Given the description of an element on the screen output the (x, y) to click on. 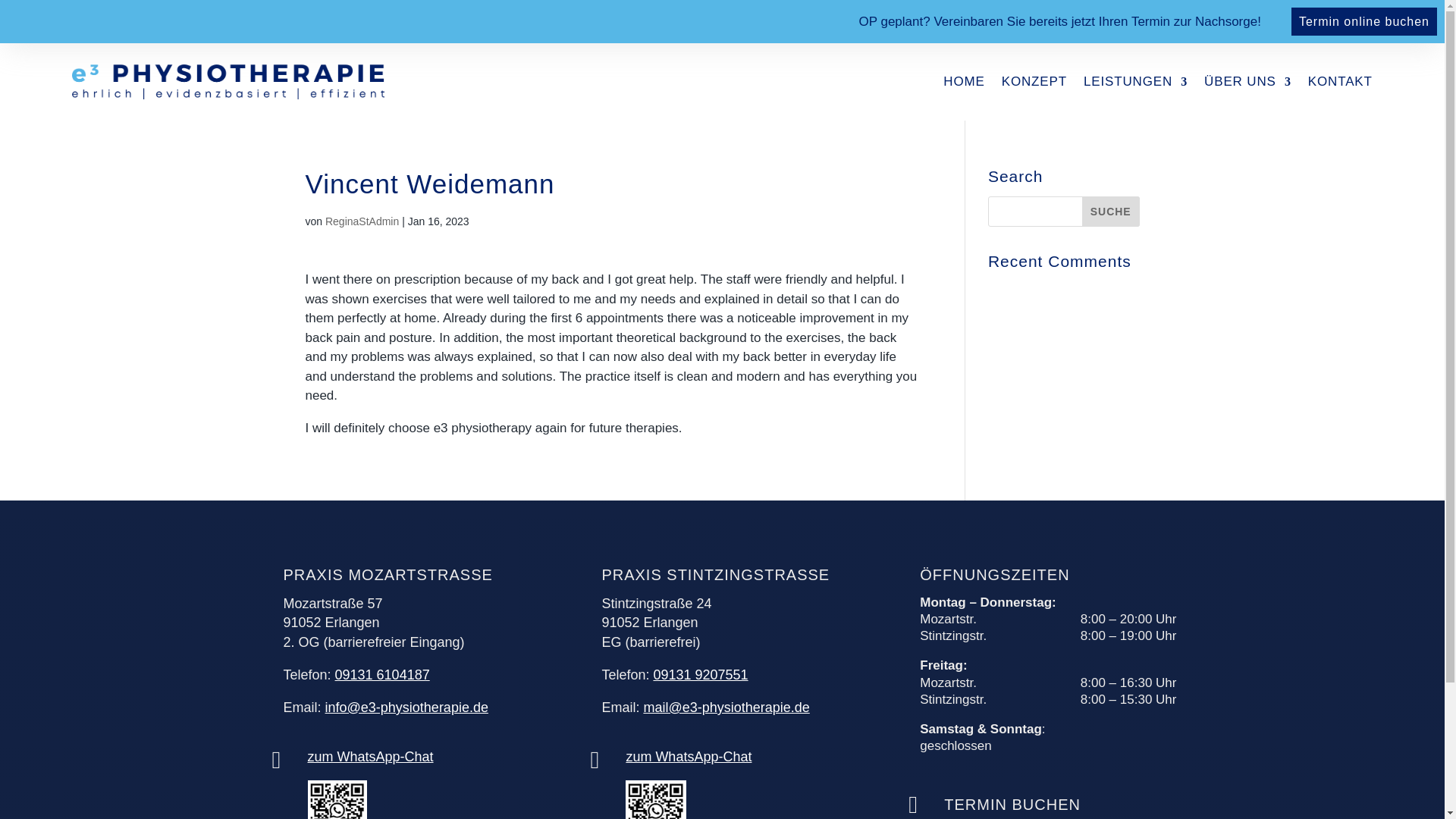
LEISTUNGEN (1135, 87)
ReginaStAdmin (361, 221)
zum WhatsApp-Chat (370, 756)
KONTAKT (1340, 87)
Termin online buchen (1364, 21)
09131 9207551 (700, 674)
KONZEPT (1034, 87)
zum WhatsApp-Chat (688, 756)
Suche (1110, 211)
HOME (963, 87)
09131 6104187 (381, 674)
Suche (1110, 211)
